Given the description of an element on the screen output the (x, y) to click on. 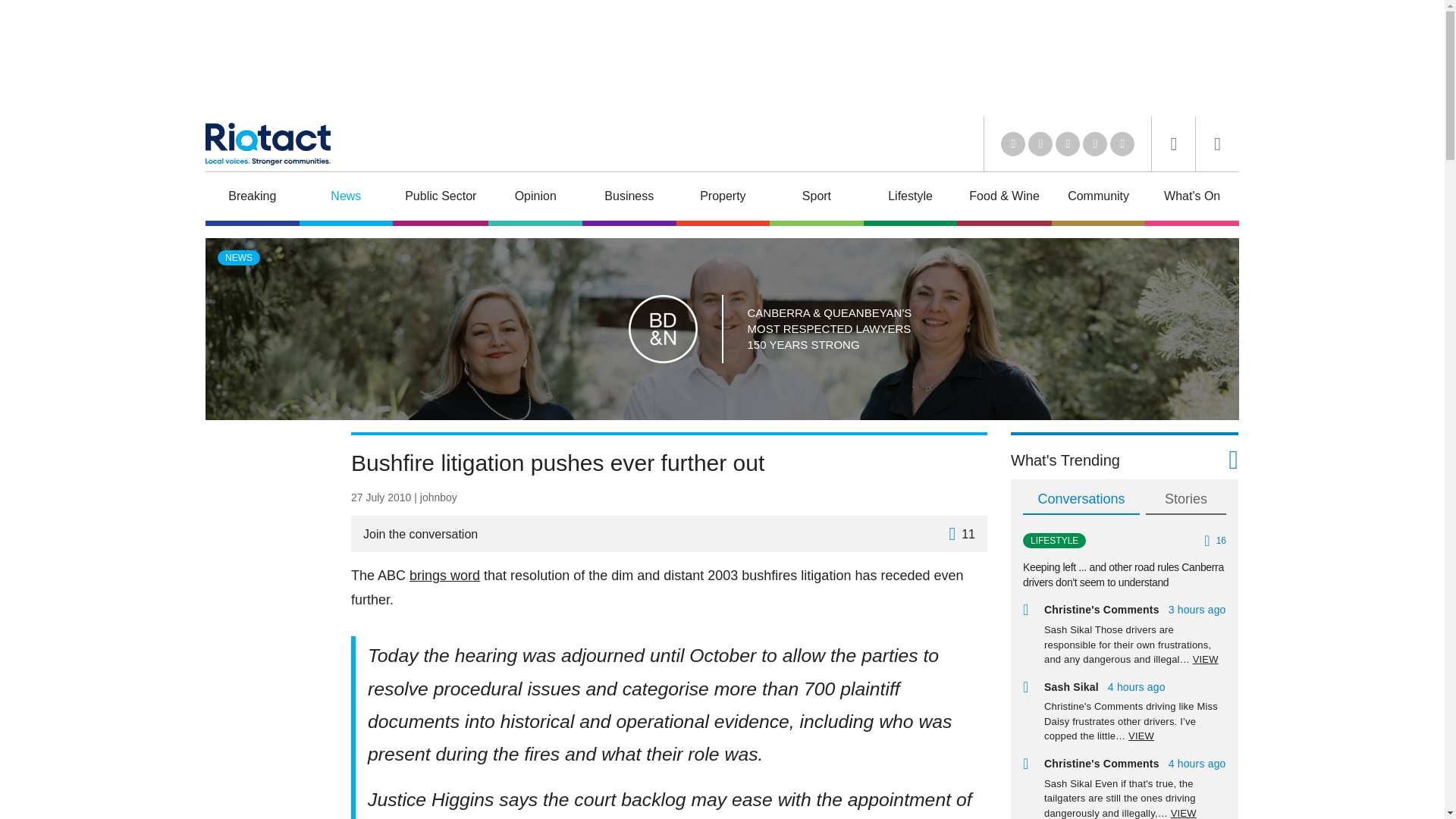
Instagram (1121, 143)
Breaking (252, 198)
Riotact Home (267, 143)
Twitter (1039, 143)
News (346, 198)
LinkedIn (1013, 143)
Facebook (1094, 143)
Youtube (1067, 143)
